Given the description of an element on the screen output the (x, y) to click on. 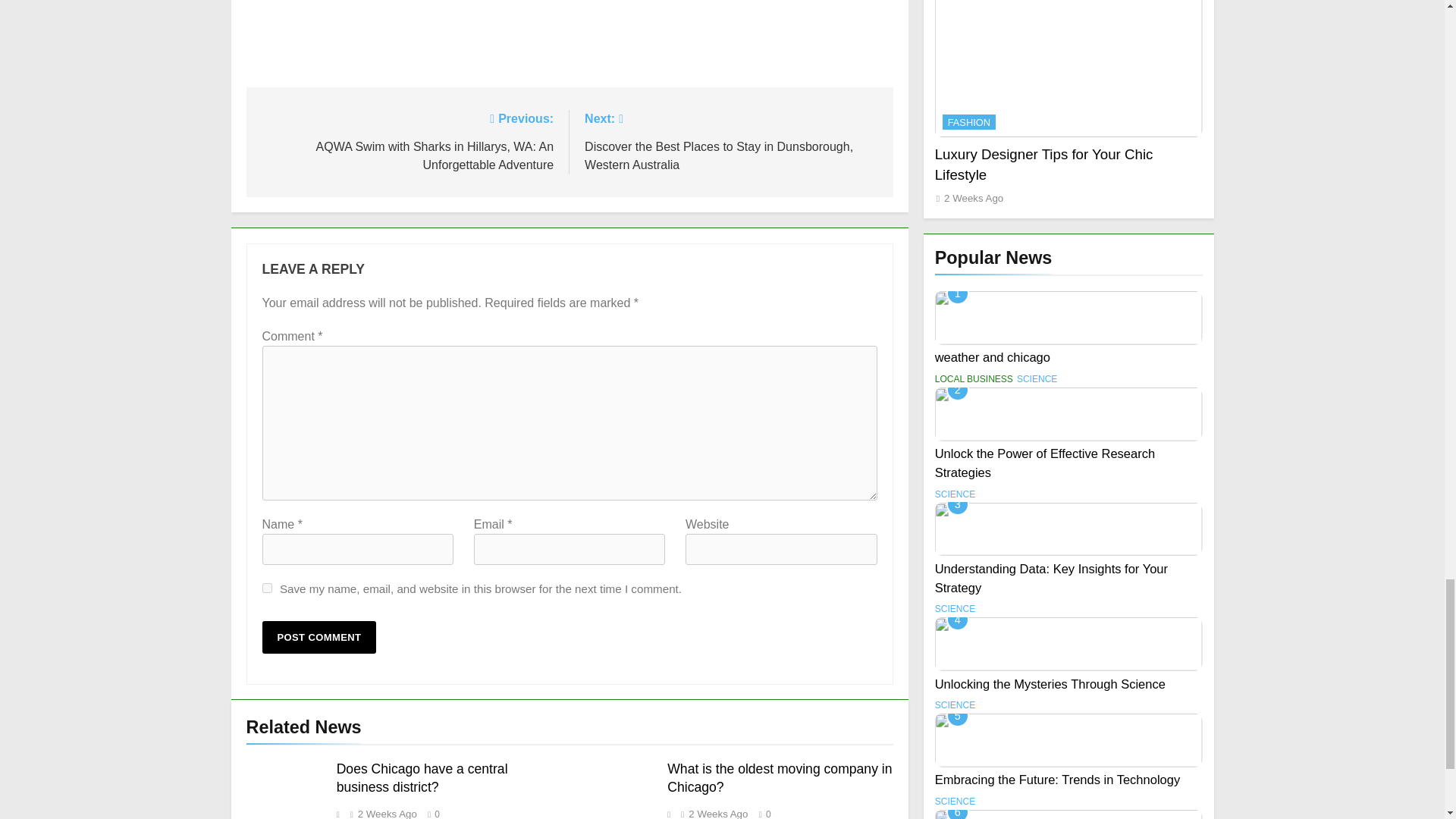
Does Chicago have a central business district? (422, 777)
Post Comment (319, 636)
yes (267, 587)
Post Comment (319, 636)
